Given the description of an element on the screen output the (x, y) to click on. 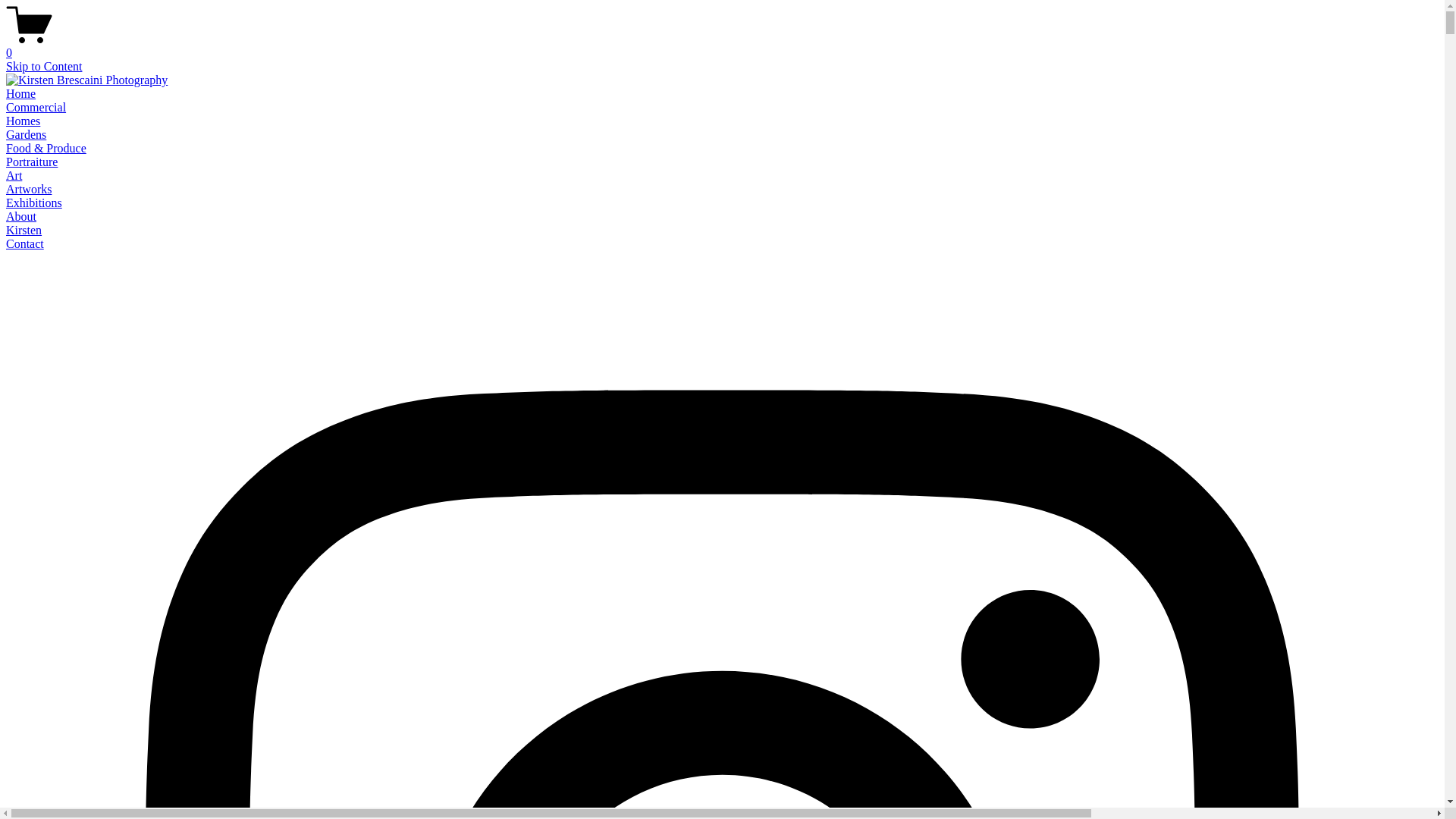
Artworks Element type: text (28, 188)
Skip to Content Element type: text (43, 65)
Homes Element type: text (23, 120)
Gardens Element type: text (26, 134)
Home Element type: text (20, 93)
Food & Produce Element type: text (46, 147)
Commercial Element type: text (35, 106)
Contact Element type: text (24, 243)
Exhibitions Element type: text (34, 202)
0 Element type: text (722, 45)
About Element type: text (21, 216)
Kirsten Element type: text (23, 229)
Portraiture Element type: text (31, 161)
Art Element type: text (13, 175)
